Given the description of an element on the screen output the (x, y) to click on. 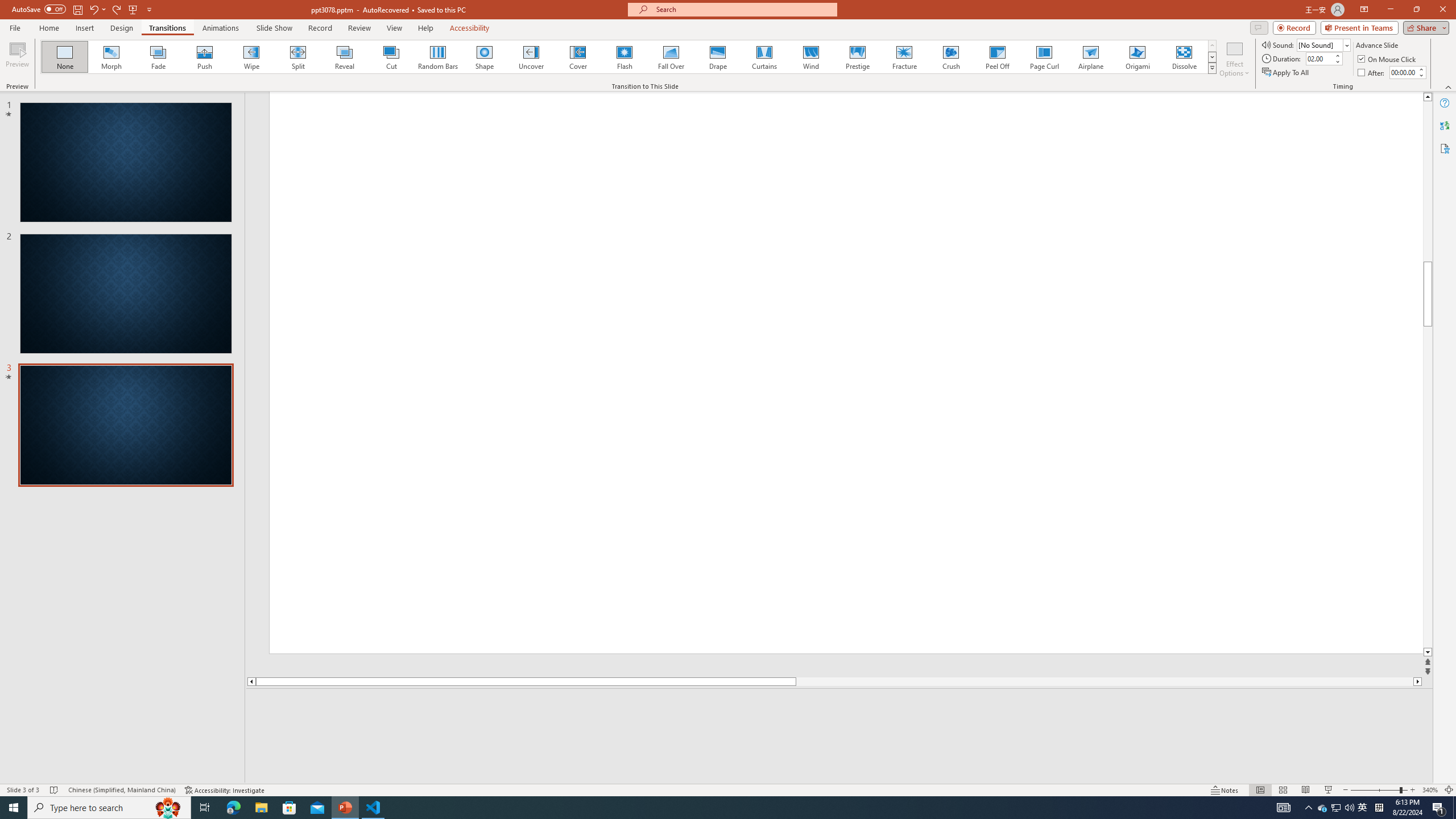
Cover (577, 56)
Page Curl (1043, 56)
Push (205, 56)
After (1372, 72)
